Given the description of an element on the screen output the (x, y) to click on. 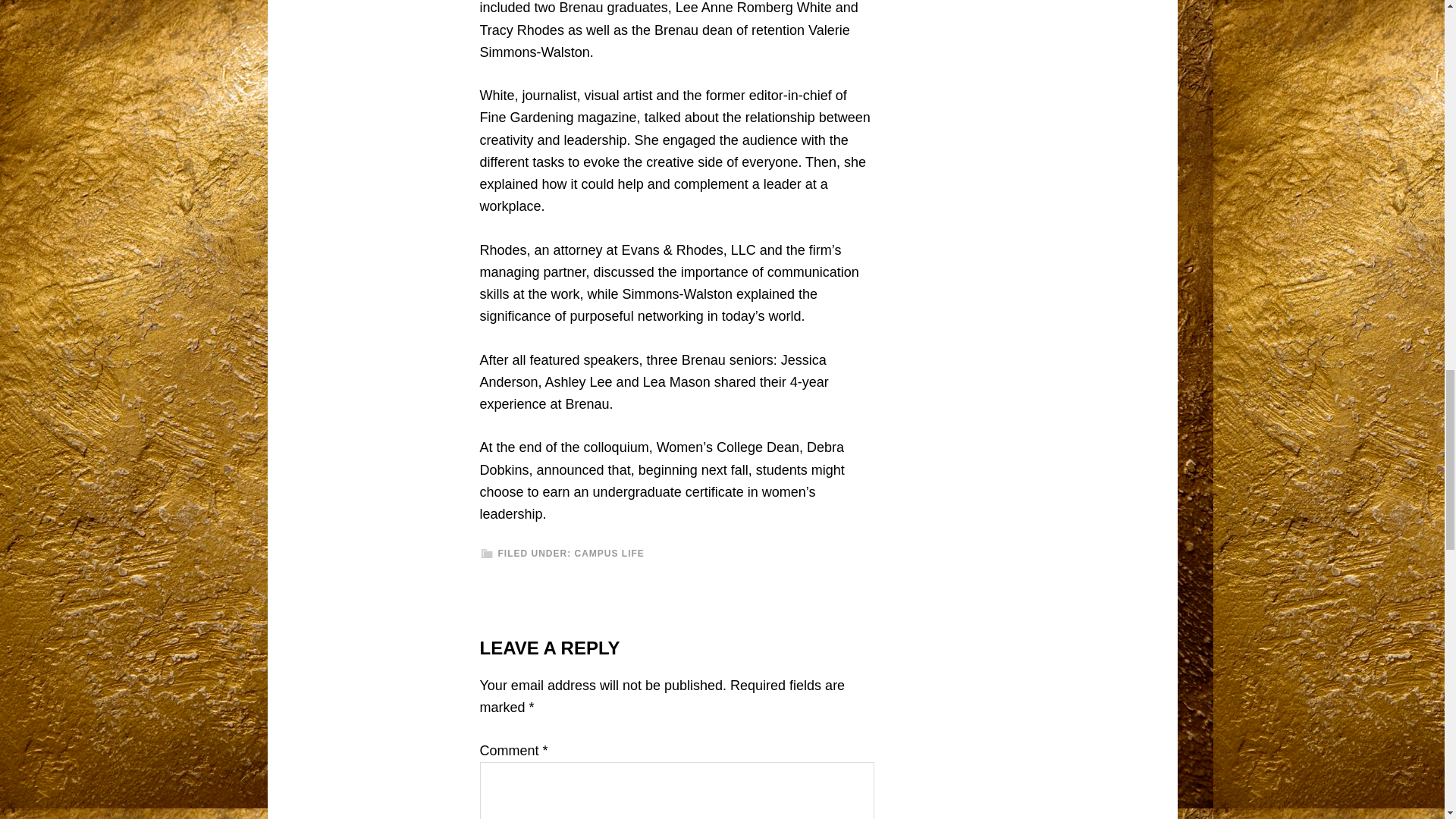
CAMPUS LIFE (610, 552)
